Given the description of an element on the screen output the (x, y) to click on. 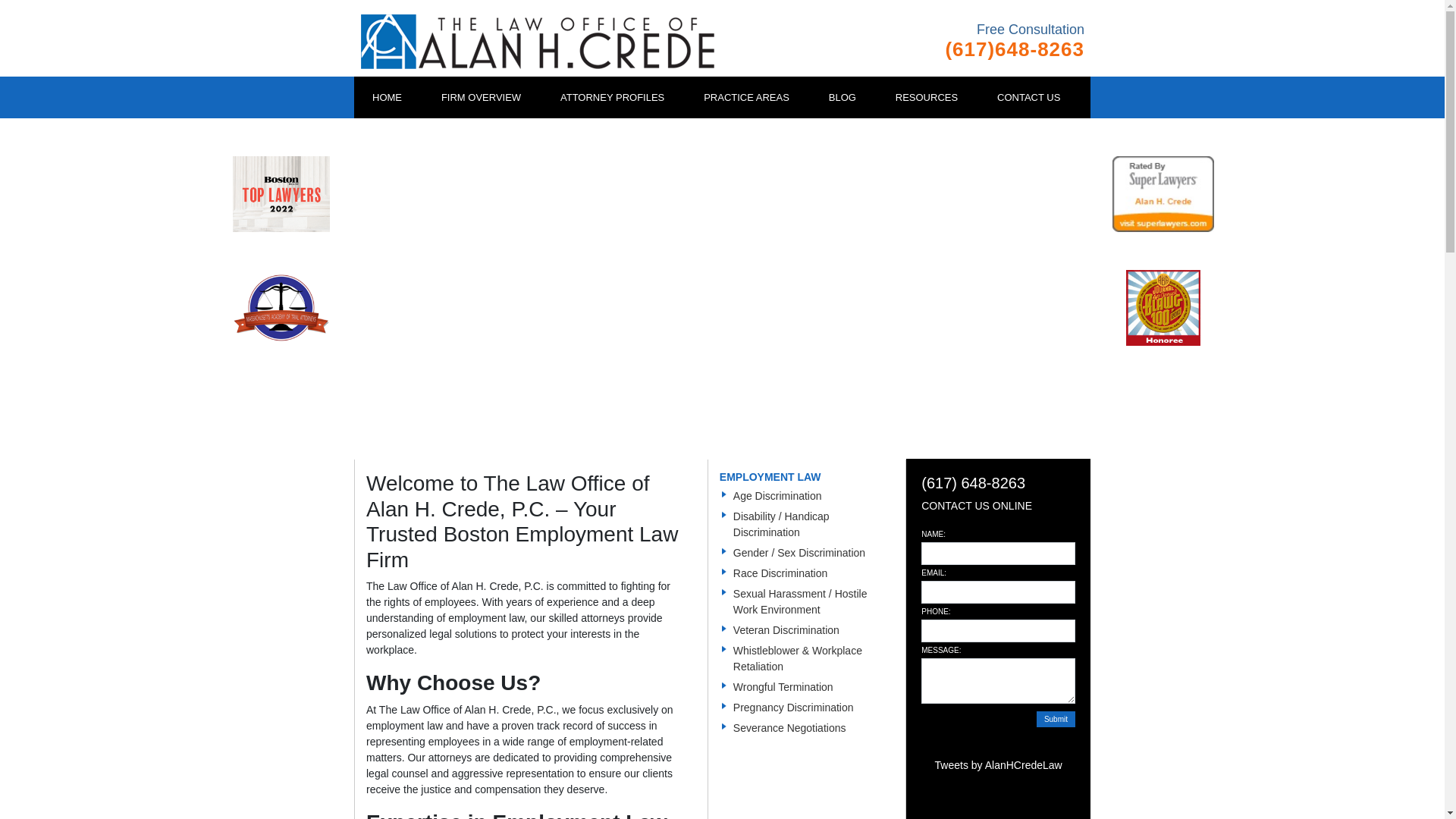
FIRM OVERVIEW (480, 96)
Submit (1055, 719)
HOME (386, 96)
PRACTICE AREAS (746, 96)
BLOG (842, 96)
ATTORNEY PROFILES (611, 96)
CONTACT US (1028, 96)
RESOURCES (926, 96)
